Given the description of an element on the screen output the (x, y) to click on. 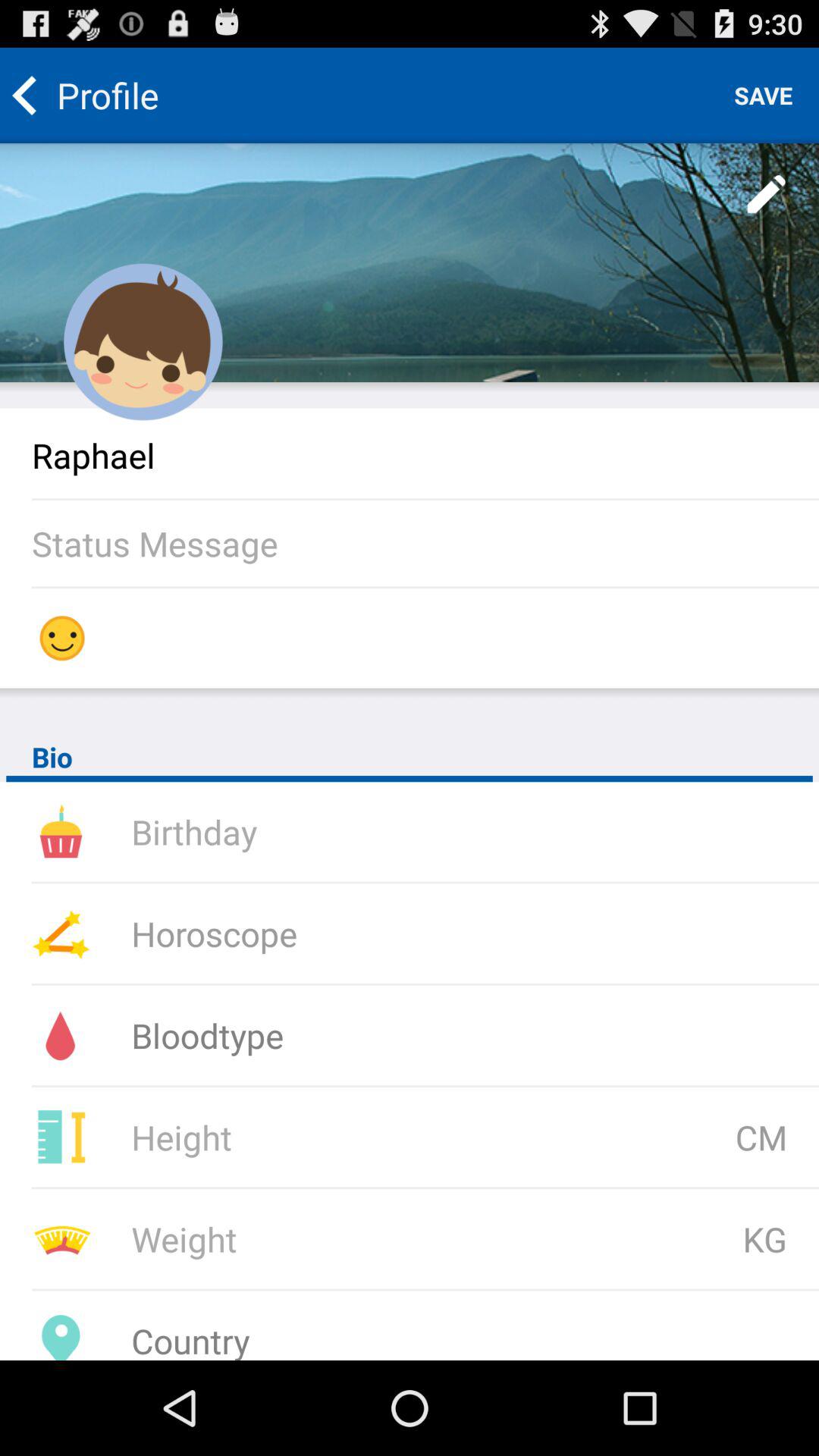
enter weight (330, 1238)
